Given the description of an element on the screen output the (x, y) to click on. 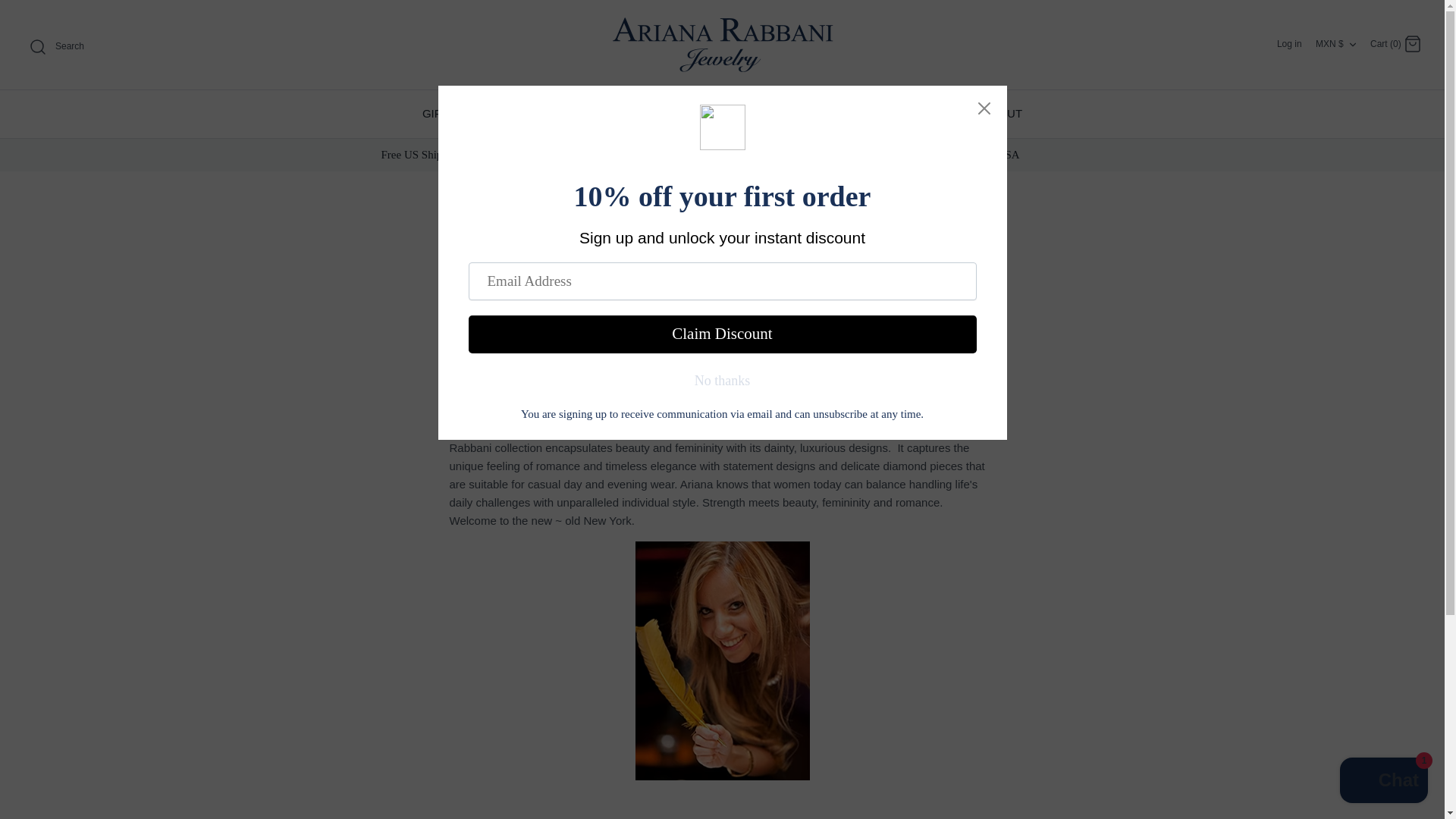
Cart (1412, 44)
EDITORIAL (762, 114)
Down (1353, 44)
JEWELRY Toggle menu (665, 114)
Shopify online store chat (1383, 781)
ABOUT (1002, 114)
Ariana Rabbani (721, 44)
Toggle menu (866, 113)
WHAT'S NEW (564, 114)
GIFTS Toggle menu (847, 114)
CUSTOM (927, 114)
Toggle menu (696, 113)
Log in (1288, 43)
GIFTS CARDS (460, 114)
